Given the description of an element on the screen output the (x, y) to click on. 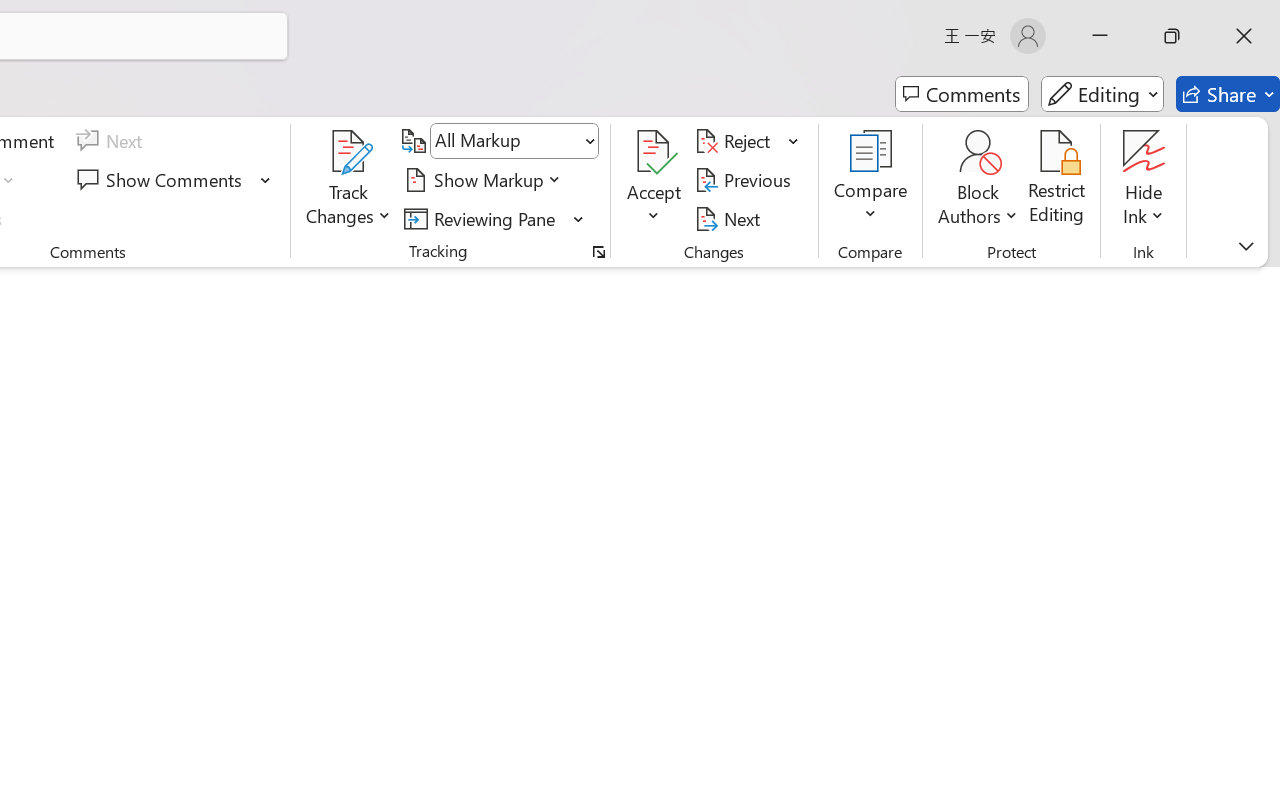
Block Authors (977, 151)
